Given the description of an element on the screen output the (x, y) to click on. 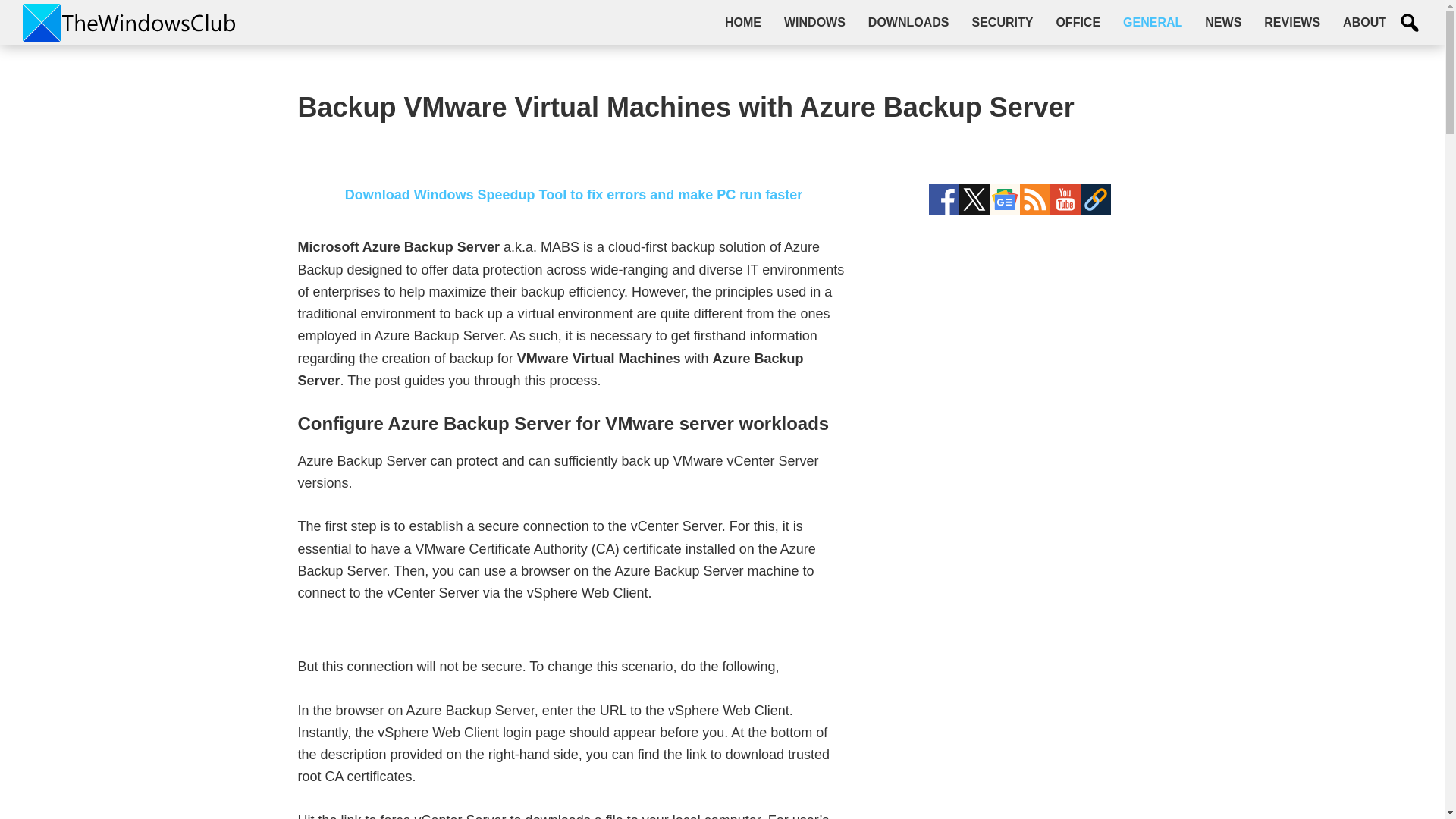
HOME (743, 22)
ABOUT (1364, 22)
DOWNLOADS (908, 22)
Show Search (1409, 22)
WINDOWS (815, 22)
REVIEWS (1292, 22)
GENERAL (1152, 22)
SECURITY (1001, 22)
